Given the description of an element on the screen output the (x, y) to click on. 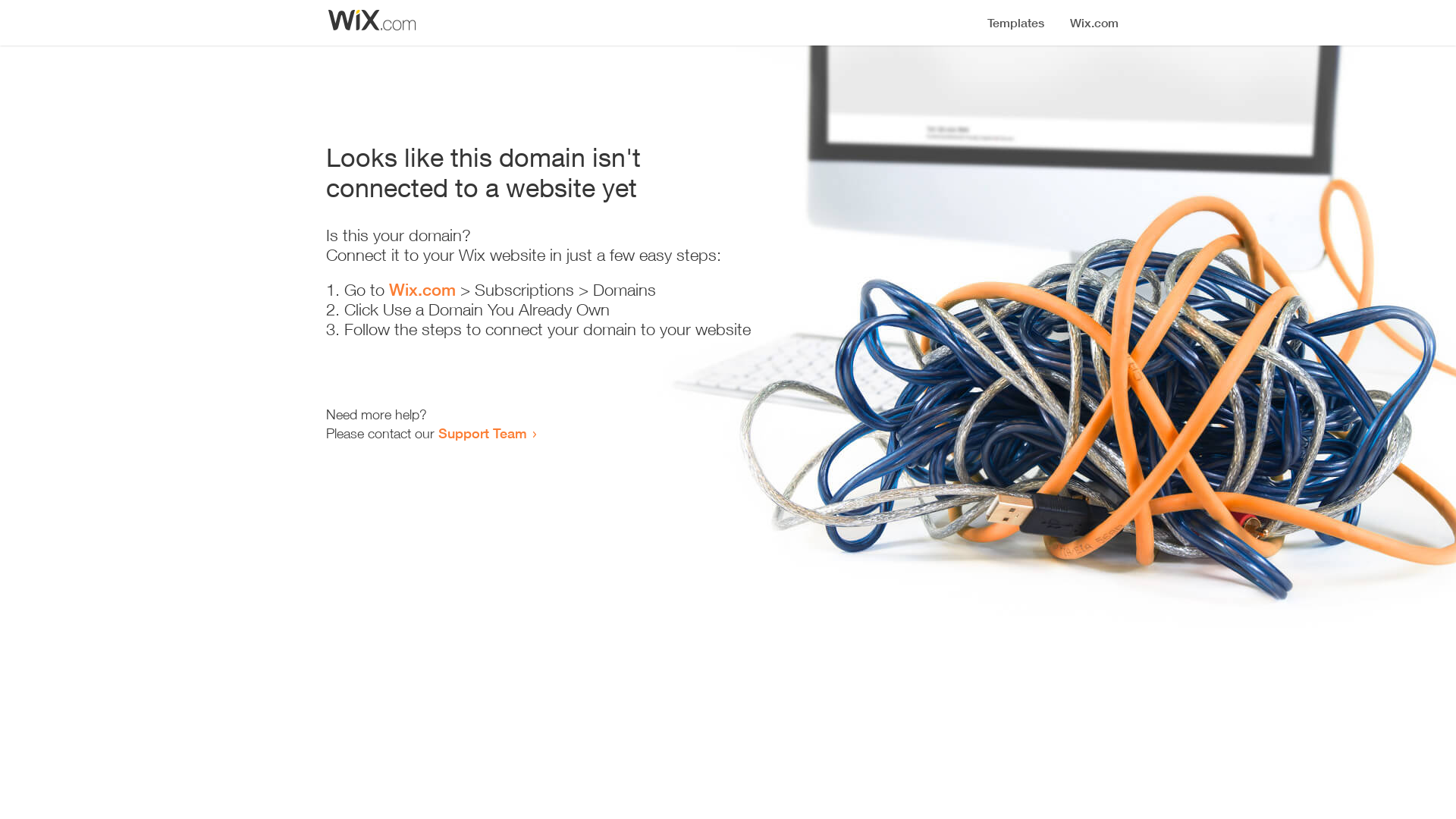
Support Team Element type: text (482, 432)
Wix.com Element type: text (422, 289)
